Given the description of an element on the screen output the (x, y) to click on. 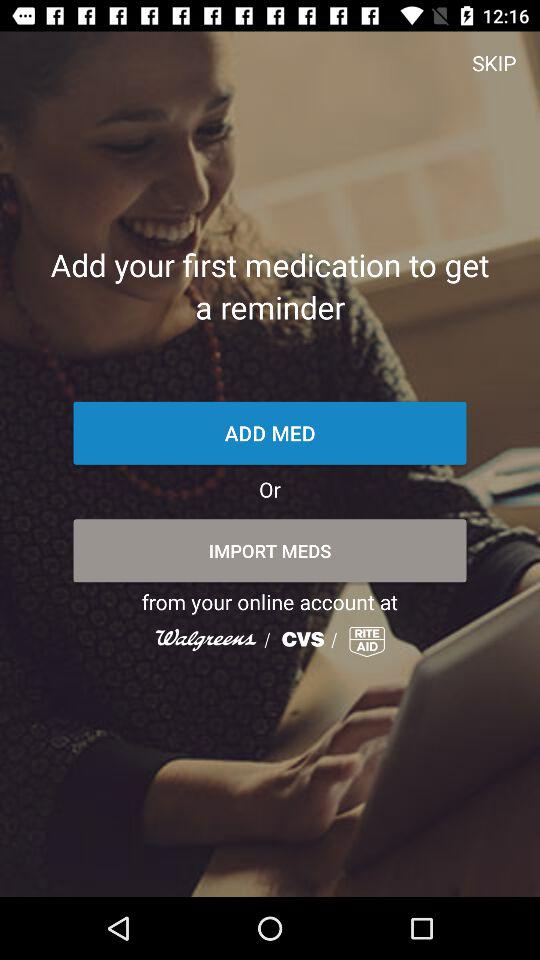
select add med icon (269, 432)
